Given the description of an element on the screen output the (x, y) to click on. 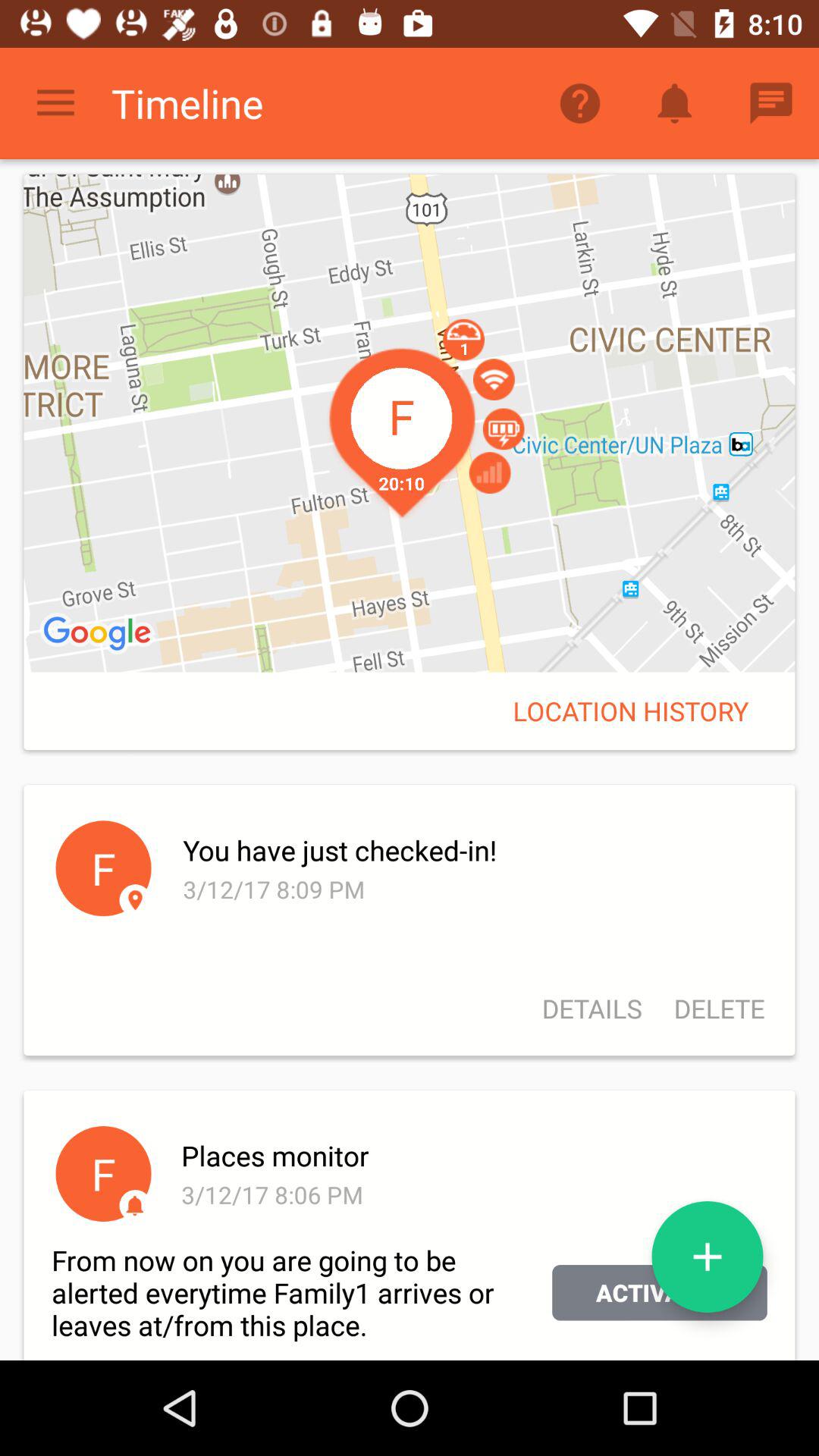
flip until the delete icon (711, 1008)
